Given the description of an element on the screen output the (x, y) to click on. 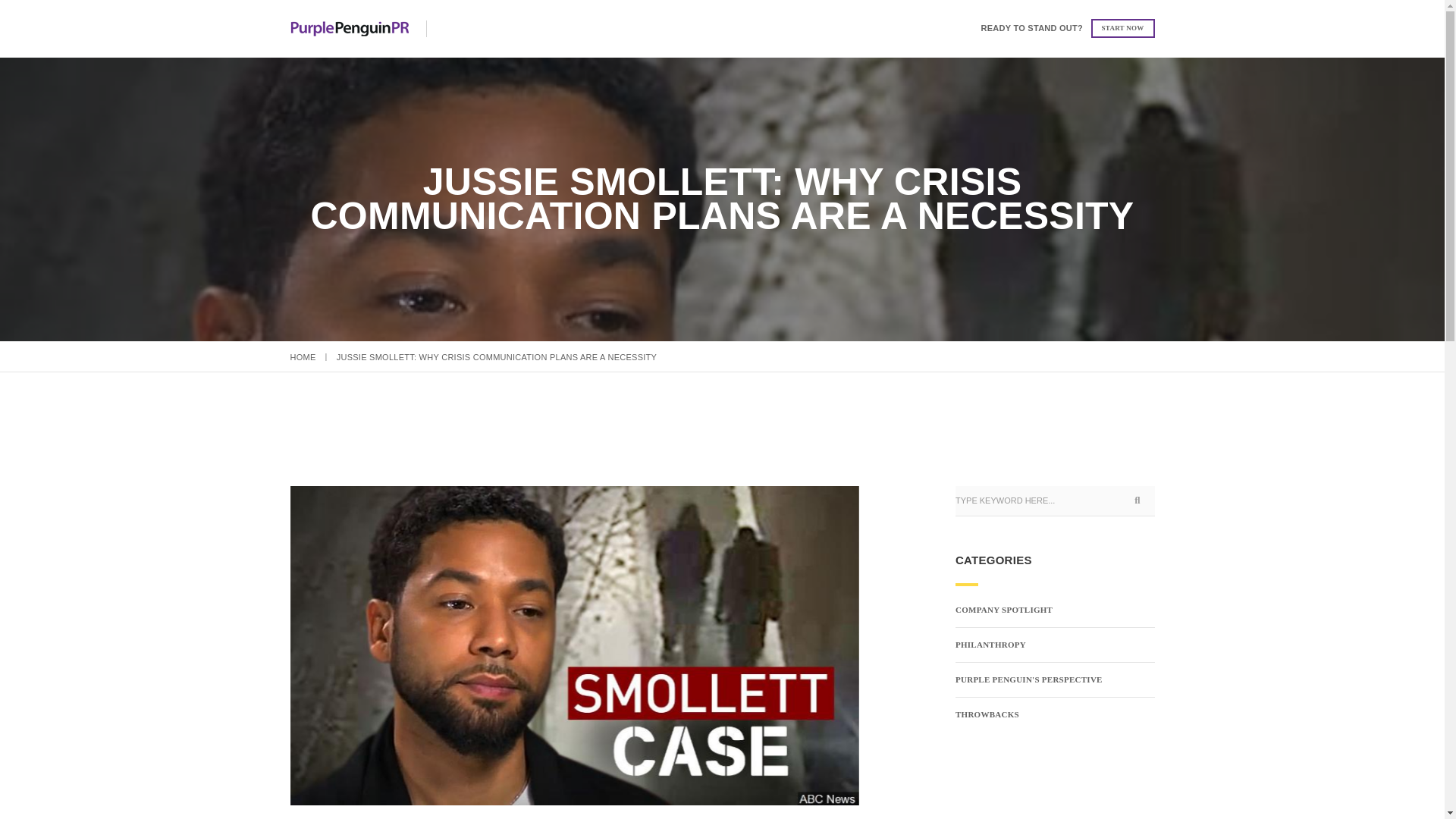
PHILANTHROPY (990, 644)
PURPLE PENGUIN'S PERSPECTIVE (1028, 679)
HOME (302, 356)
COMPANY SPOTLIGHT (1003, 609)
CLIENTS (714, 28)
START NOW (1122, 27)
ABOUT (469, 28)
THROWBACKS (987, 713)
NEWS (855, 28)
CASE STUDIES (628, 28)
Browse to: Home (302, 356)
SERVICES (540, 28)
CONTACT (787, 28)
